Given the description of an element on the screen output the (x, y) to click on. 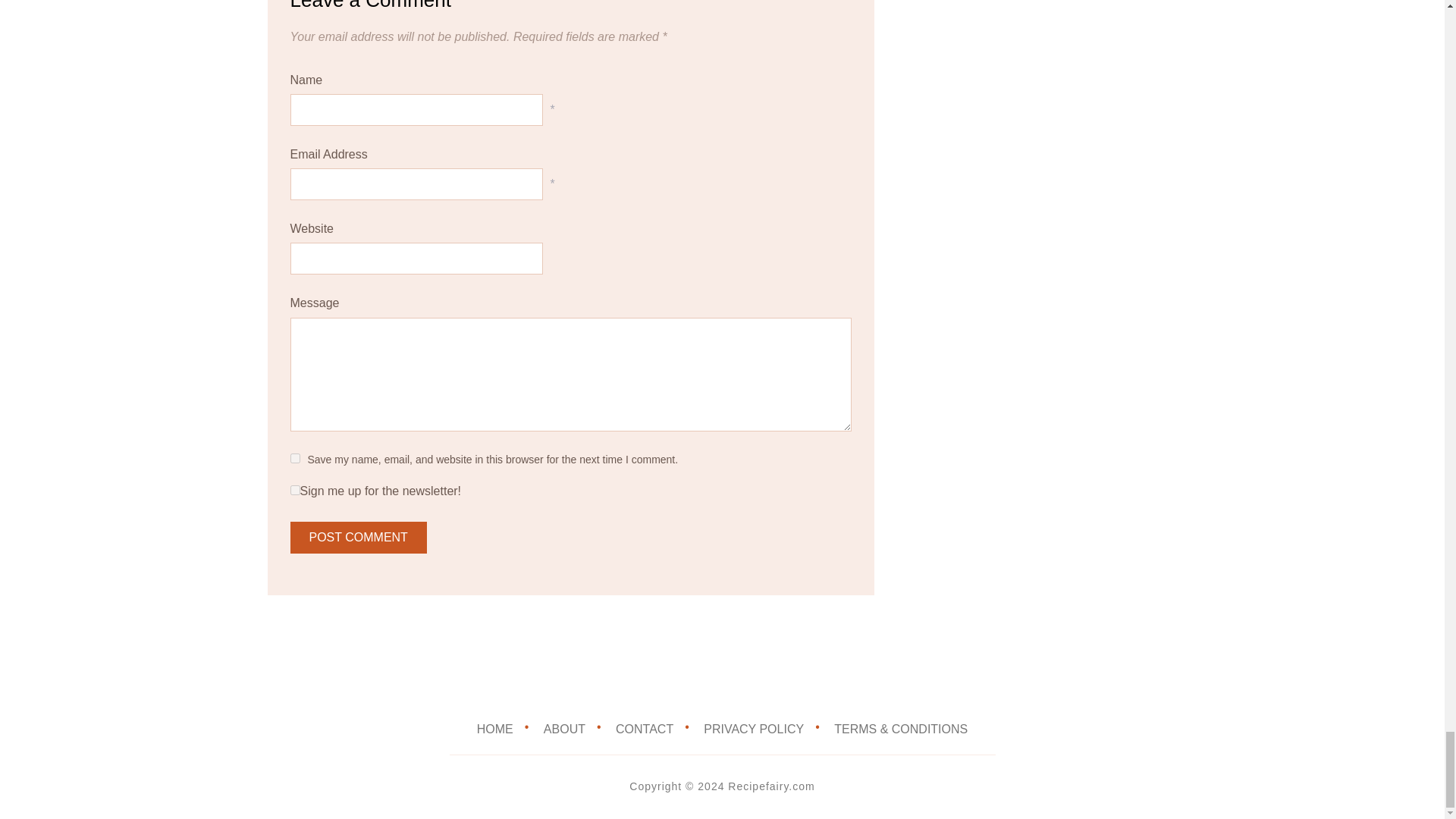
1 (294, 490)
yes (294, 458)
Post Comment (357, 537)
